Given the description of an element on the screen output the (x, y) to click on. 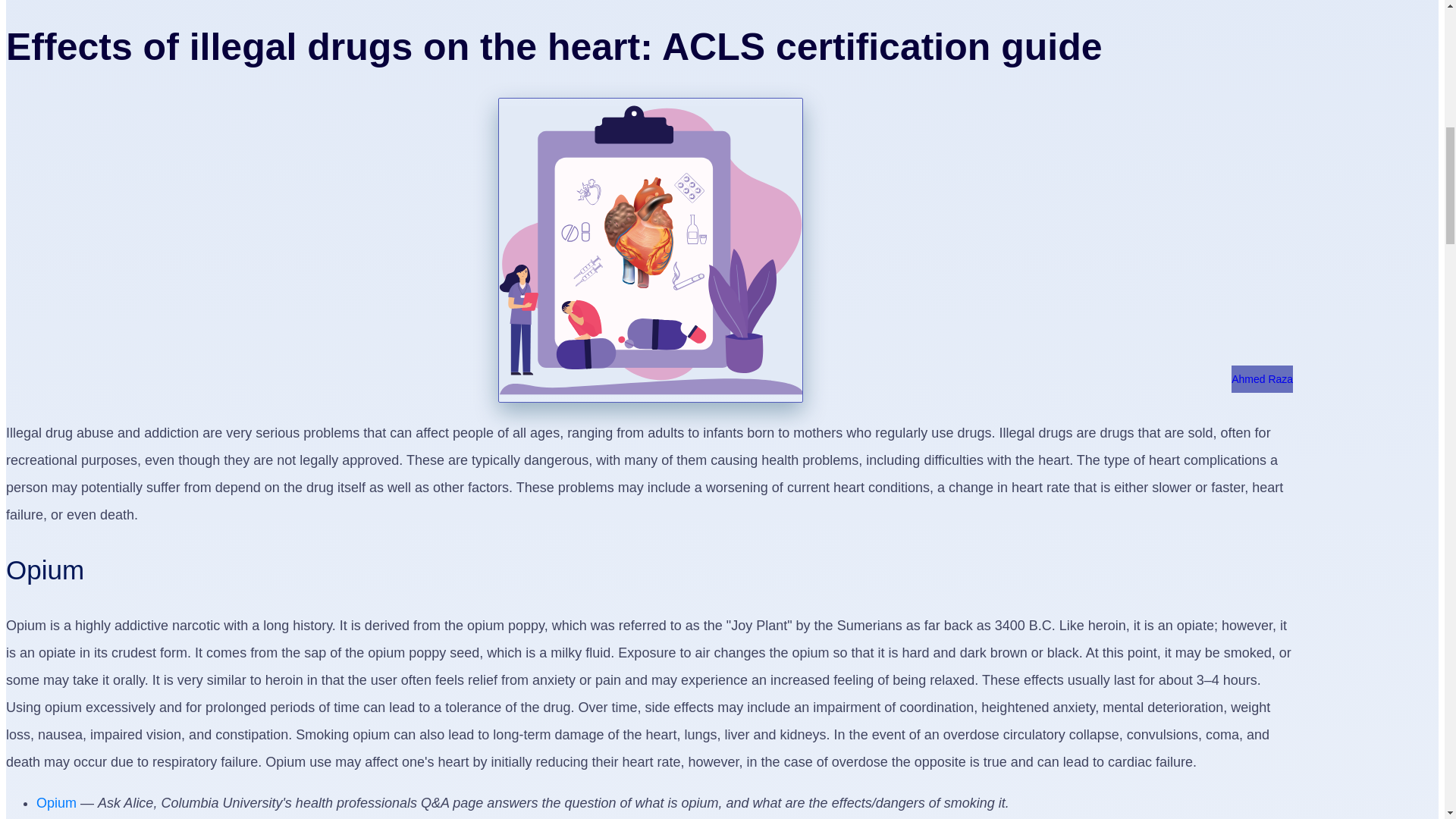
Ahmed Raza (1261, 378)
Opium (56, 802)
